Given the description of an element on the screen output the (x, y) to click on. 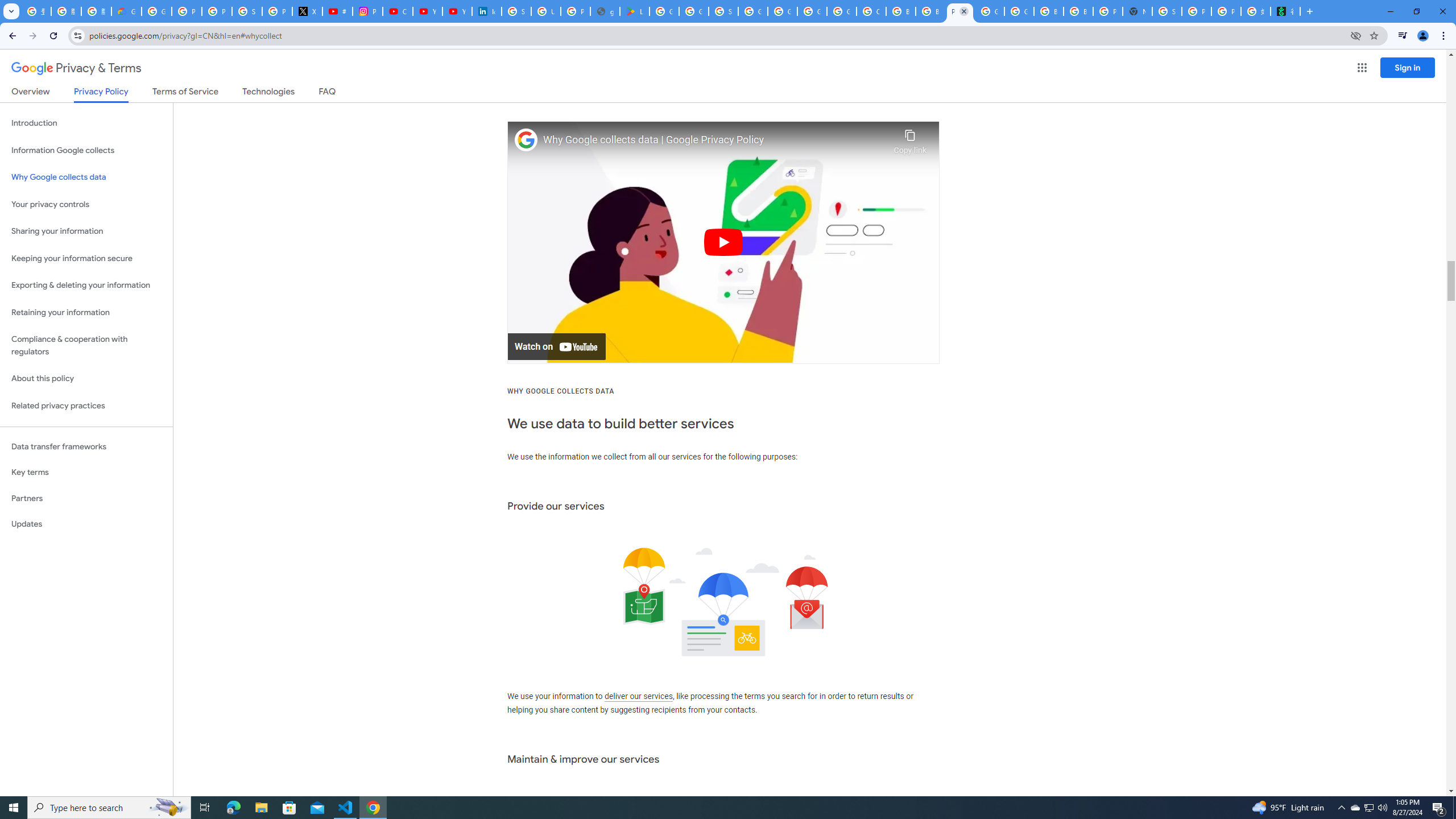
Sign in - Google Accounts (723, 11)
#nbabasketballhighlights - YouTube (337, 11)
Introduction (86, 122)
Key terms (86, 472)
New Tab (1137, 11)
Photo image of Google (526, 139)
Retaining your information (86, 312)
Keeping your information secure (86, 258)
